Given the description of an element on the screen output the (x, y) to click on. 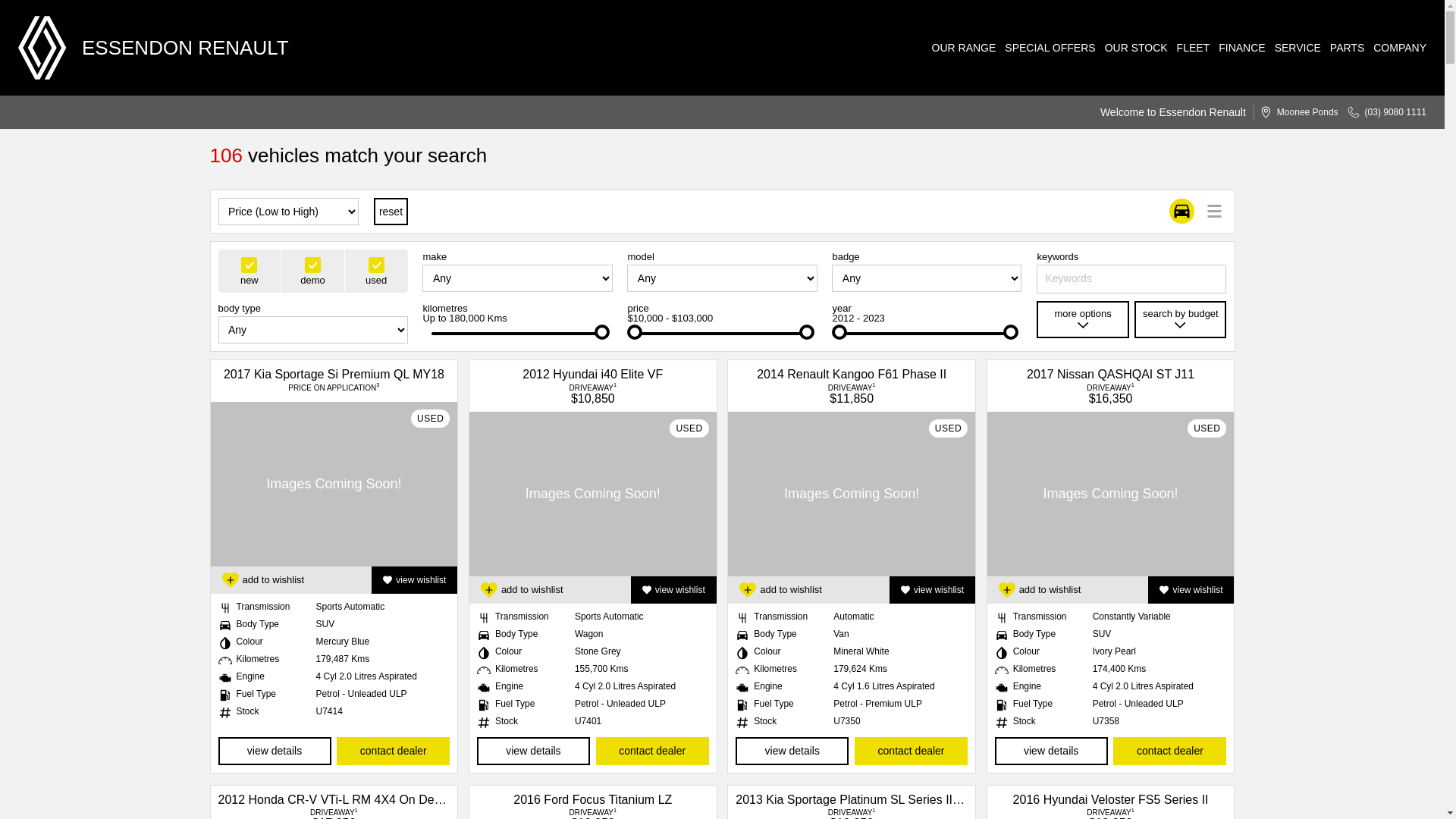
USED Element type: text (334, 483)
view details Element type: text (274, 751)
DRIVEAWAY1
$11,850 Element type: text (851, 393)
view details Element type: text (1050, 751)
view wishlist Element type: text (1190, 589)
view details Element type: text (791, 751)
contact dealer Element type: text (652, 751)
view wishlist Element type: text (673, 589)
reset Element type: text (390, 211)
ESSENDON RENAULT Element type: text (153, 47)
SERVICE Element type: text (1293, 47)
contact dealer Element type: text (1169, 751)
COMPANY Element type: text (1395, 47)
USED Element type: text (851, 493)
view wishlist Element type: text (932, 589)
view details Element type: text (532, 751)
OUR RANGE Element type: text (959, 47)
PRICE ON APPLICATION3 Element type: text (334, 388)
contact dealer Element type: text (910, 751)
contact dealer Element type: text (392, 751)
more options Element type: text (1082, 319)
PARTS Element type: text (1342, 47)
Moonee Ponds Element type: text (1293, 111)
view wishlist Element type: text (414, 579)
FLEET Element type: text (1188, 47)
SPECIAL OFFERS Element type: text (1045, 47)
USED Element type: text (592, 493)
DRIVEAWAY1
$10,850 Element type: text (592, 393)
FINANCE Element type: text (1236, 47)
DRIVEAWAY1
$16,350 Element type: text (1110, 393)
USED Element type: text (1110, 493)
(03) 9080 1111 Element type: text (1382, 111)
OUR STOCK Element type: text (1131, 47)
search by budget Element type: text (1180, 319)
